Given the description of an element on the screen output the (x, y) to click on. 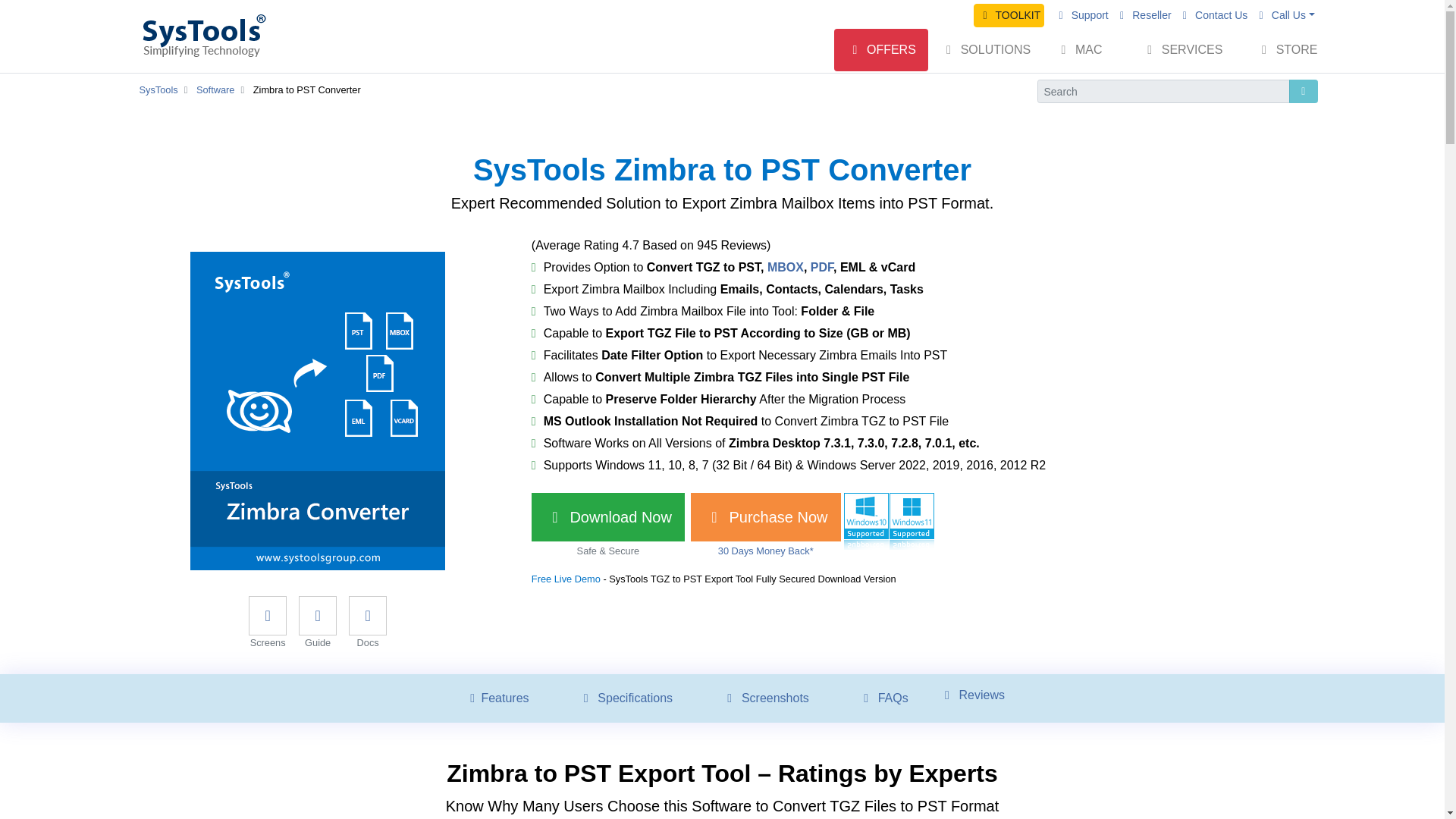
FAQs (882, 698)
TOOLKIT (1008, 15)
Software (215, 89)
Support (1080, 15)
Specifications (625, 698)
Call Us (1283, 15)
SysTools (158, 89)
Reseller (1143, 15)
Contact Us (1212, 15)
Reviews (968, 695)
